Given the description of an element on the screen output the (x, y) to click on. 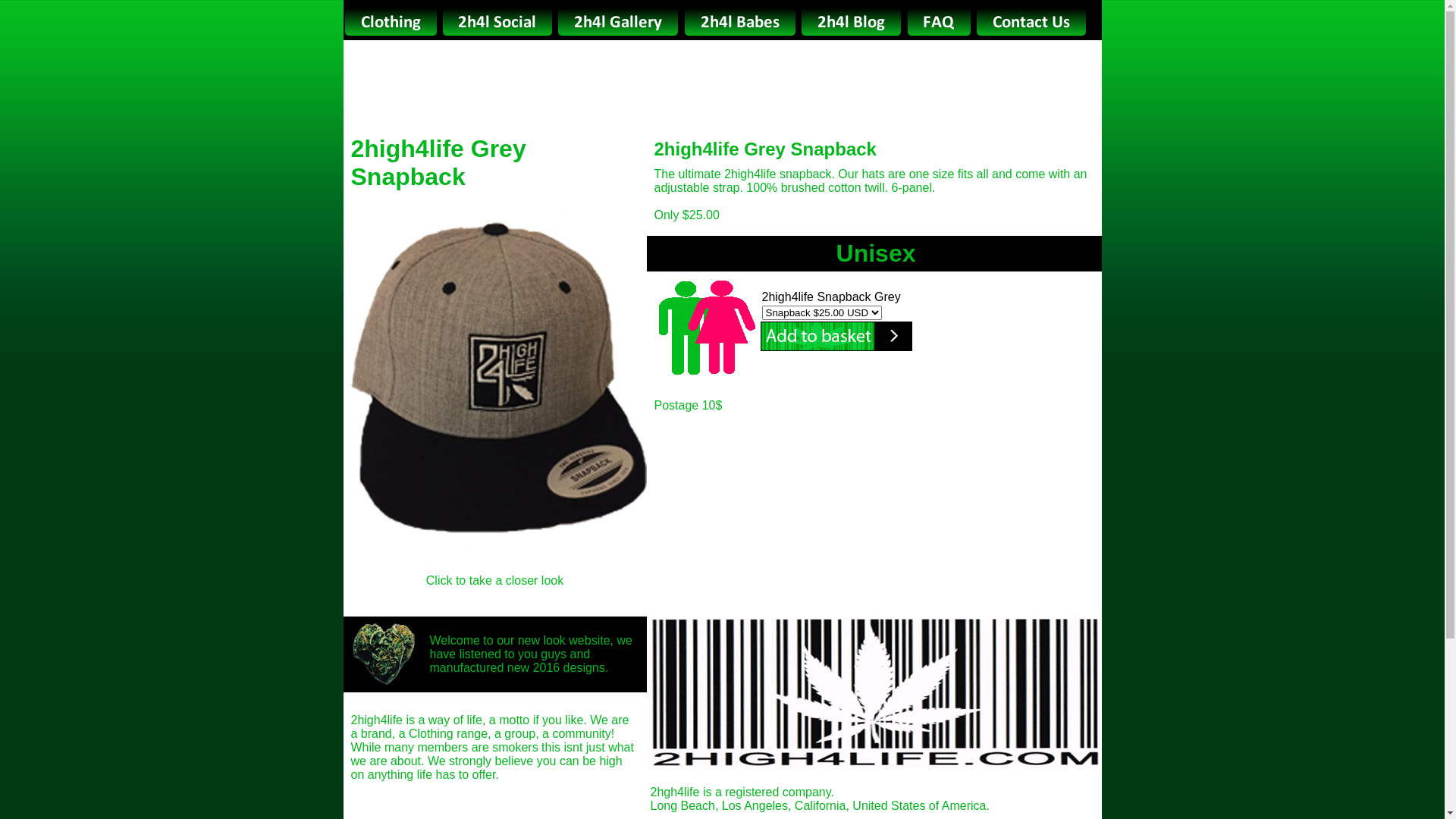
Advertisement Element type: hover (721, 81)
